Given the description of an element on the screen output the (x, y) to click on. 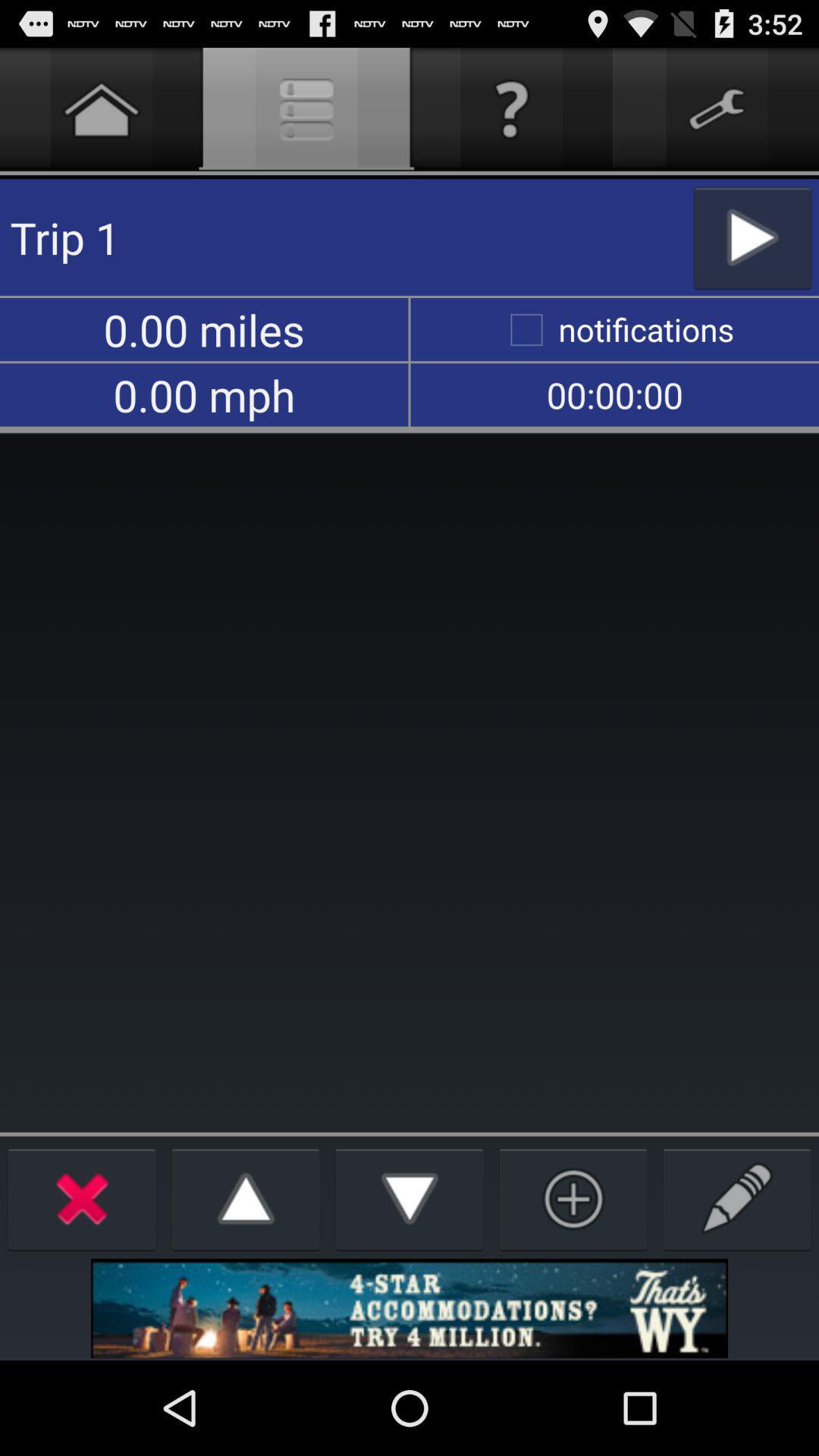
write in app (737, 1198)
